Given the description of an element on the screen output the (x, y) to click on. 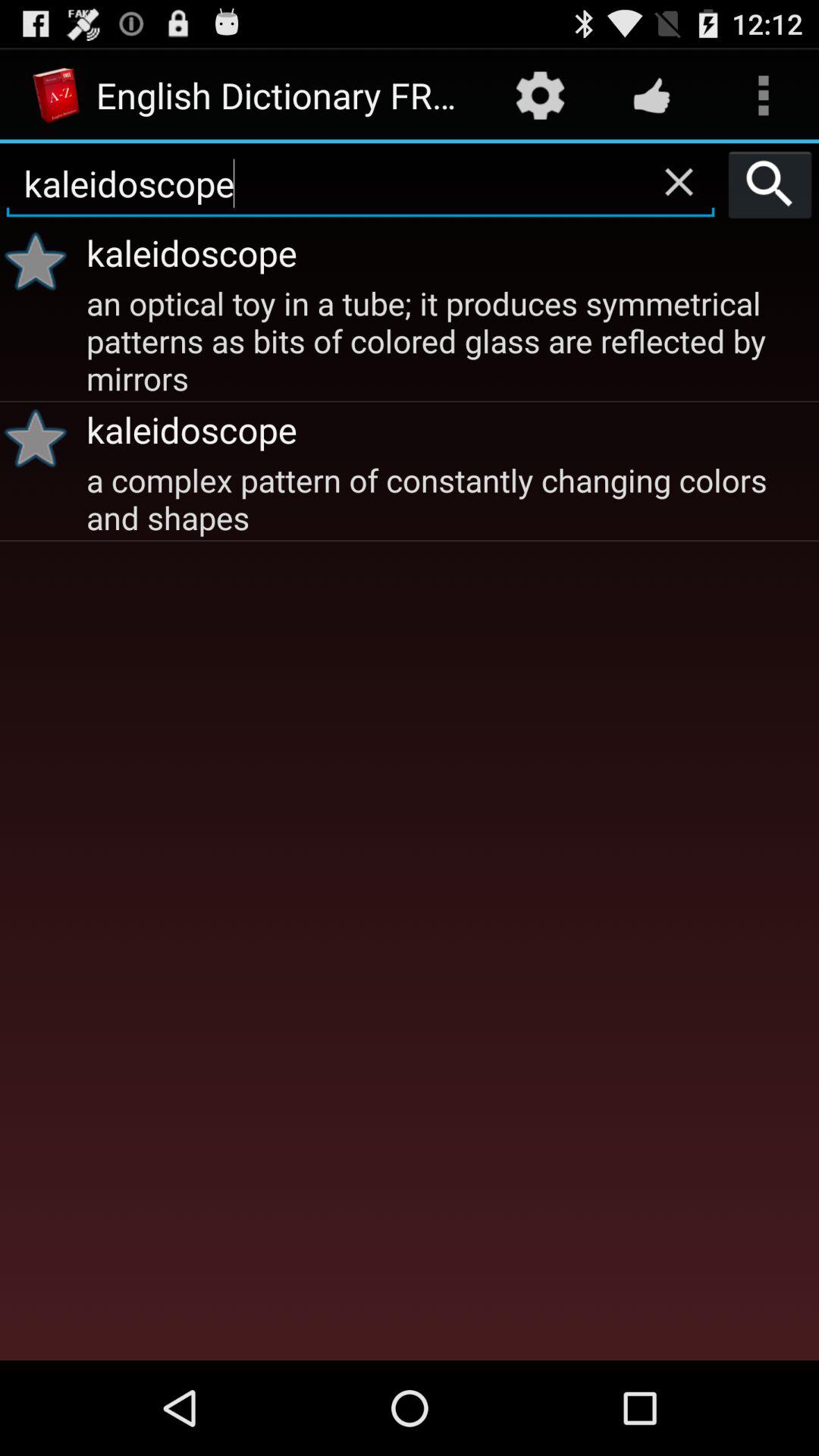
choose the icon to the left of kaleidoscope app (41, 260)
